Given the description of an element on the screen output the (x, y) to click on. 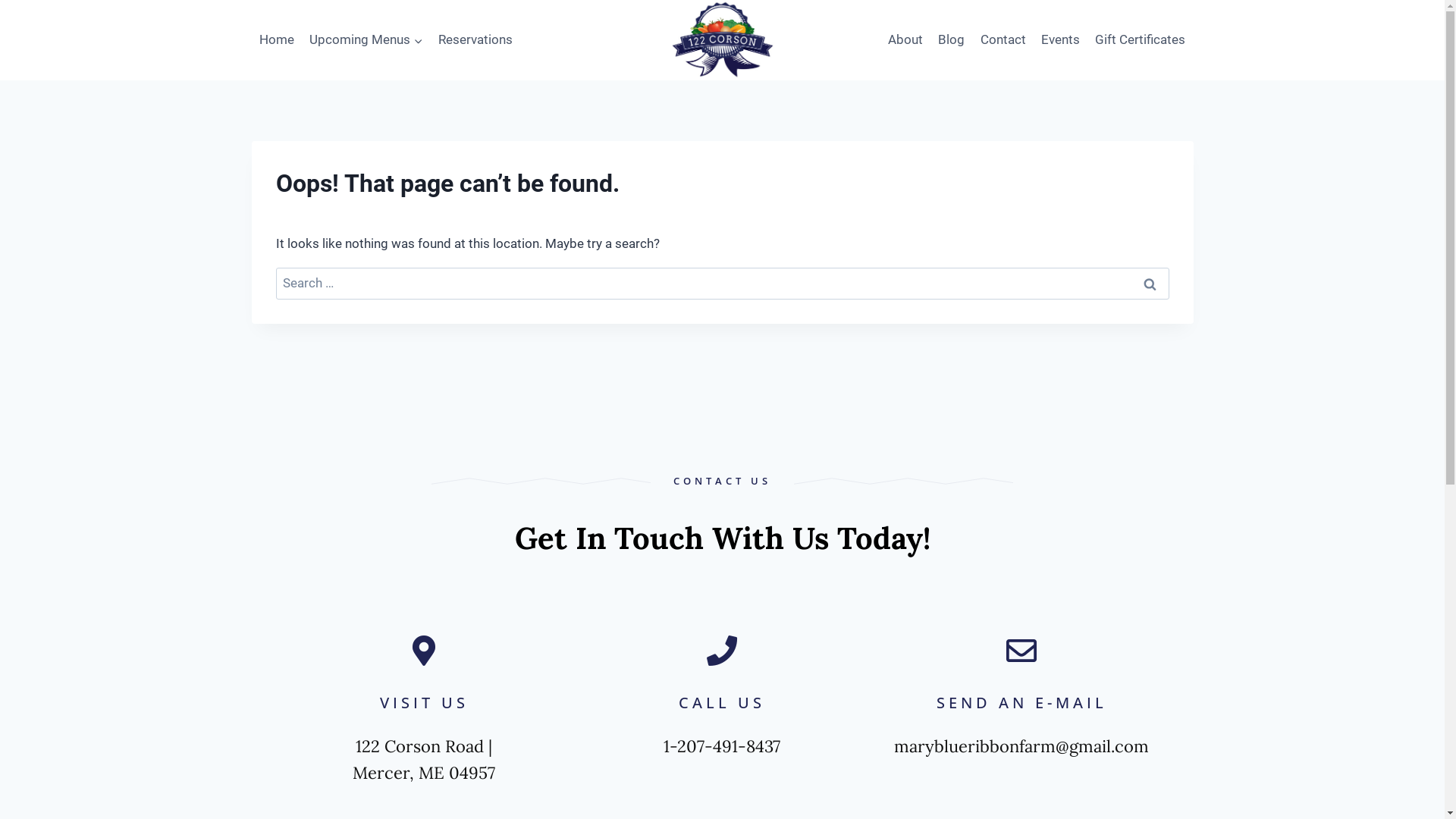
Blog Element type: text (951, 39)
Events Element type: text (1060, 39)
Home Element type: text (276, 39)
Contact Element type: text (1002, 39)
About Element type: text (905, 39)
Search Element type: text (1150, 283)
Upcoming Menus Element type: text (365, 39)
Gift Certificates Element type: text (1139, 39)
Reservations Element type: text (475, 39)
